Given the description of an element on the screen output the (x, y) to click on. 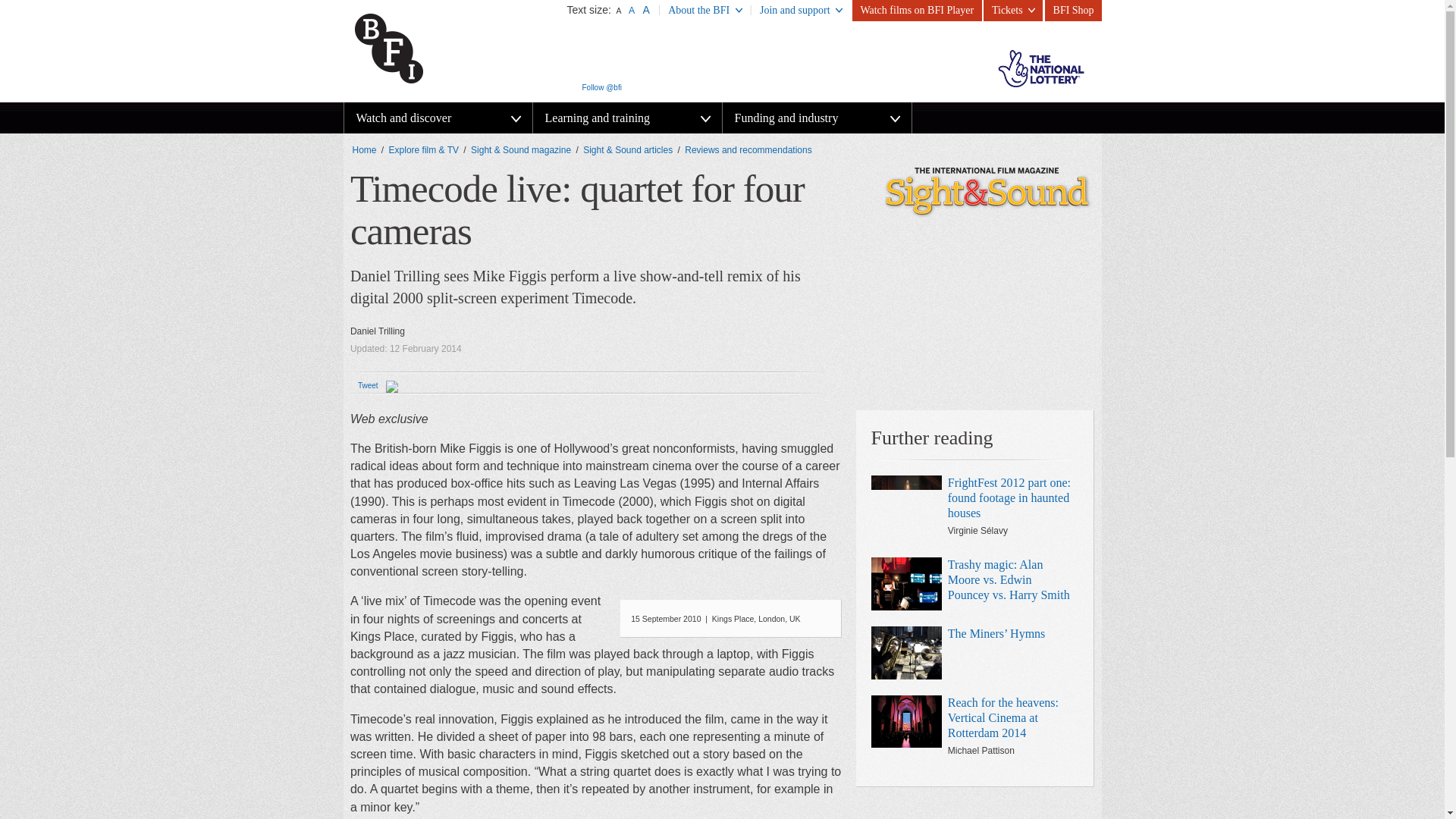
Learning and training (626, 117)
Watch films on BFI Player (916, 10)
Skip to main content (34, 0)
Watch and discover (437, 117)
Join and support (800, 10)
About the BFI (705, 10)
BFI Film Forever logo - link to homepage (421, 46)
National Lottery (1040, 68)
